Given the description of an element on the screen output the (x, y) to click on. 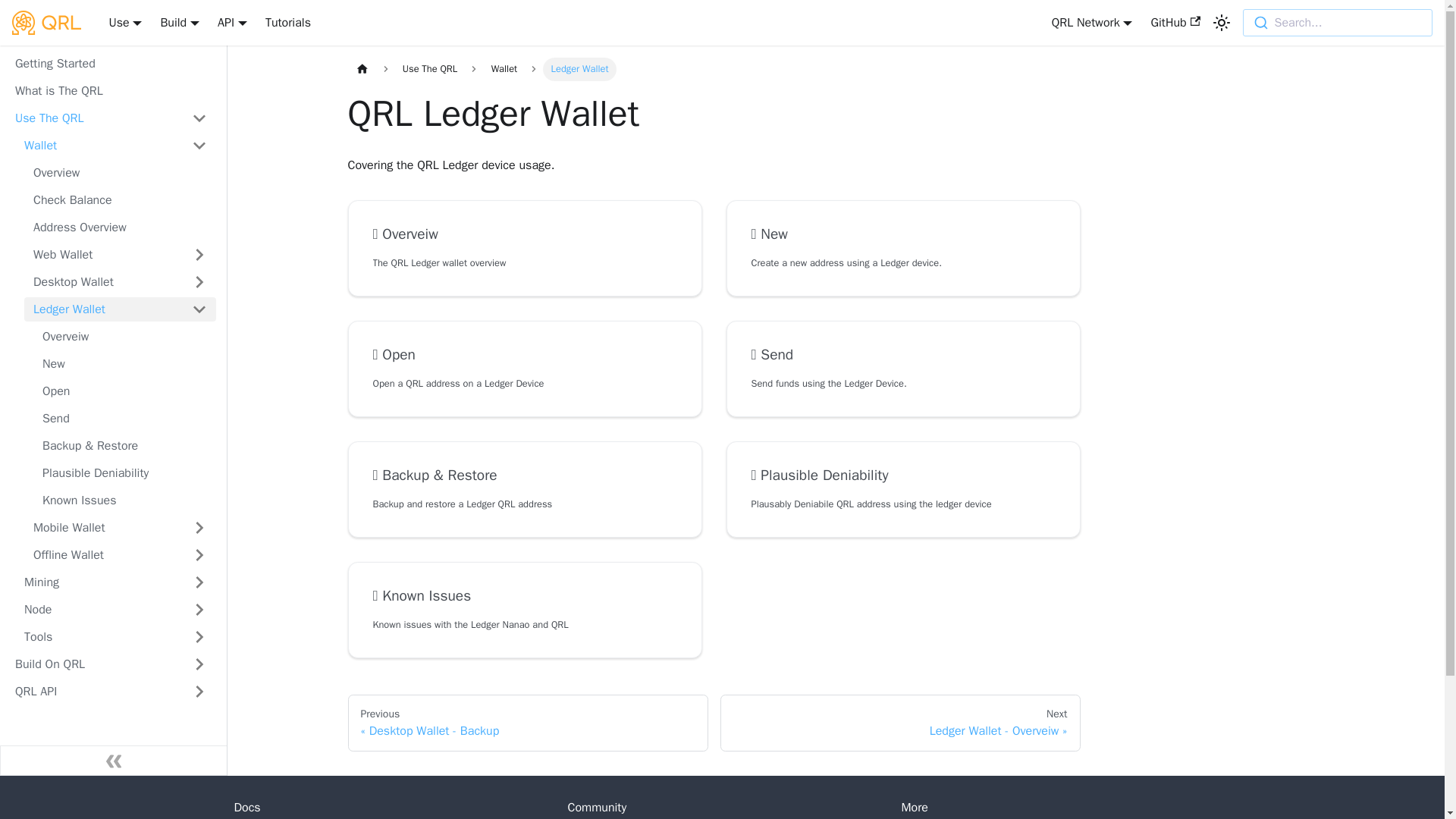
Known issues with the Ledger Nanao and QRL (524, 625)
Tutorials (288, 22)
The QRL Ledger wallet overview (524, 263)
Send funds using the Ledger Device. (902, 383)
New (902, 234)
Use The QRL (94, 118)
Create a new address using a Ledger device. (902, 263)
Collapse sidebar (113, 760)
Overveiw (524, 234)
Use (124, 22)
